Given the description of an element on the screen output the (x, y) to click on. 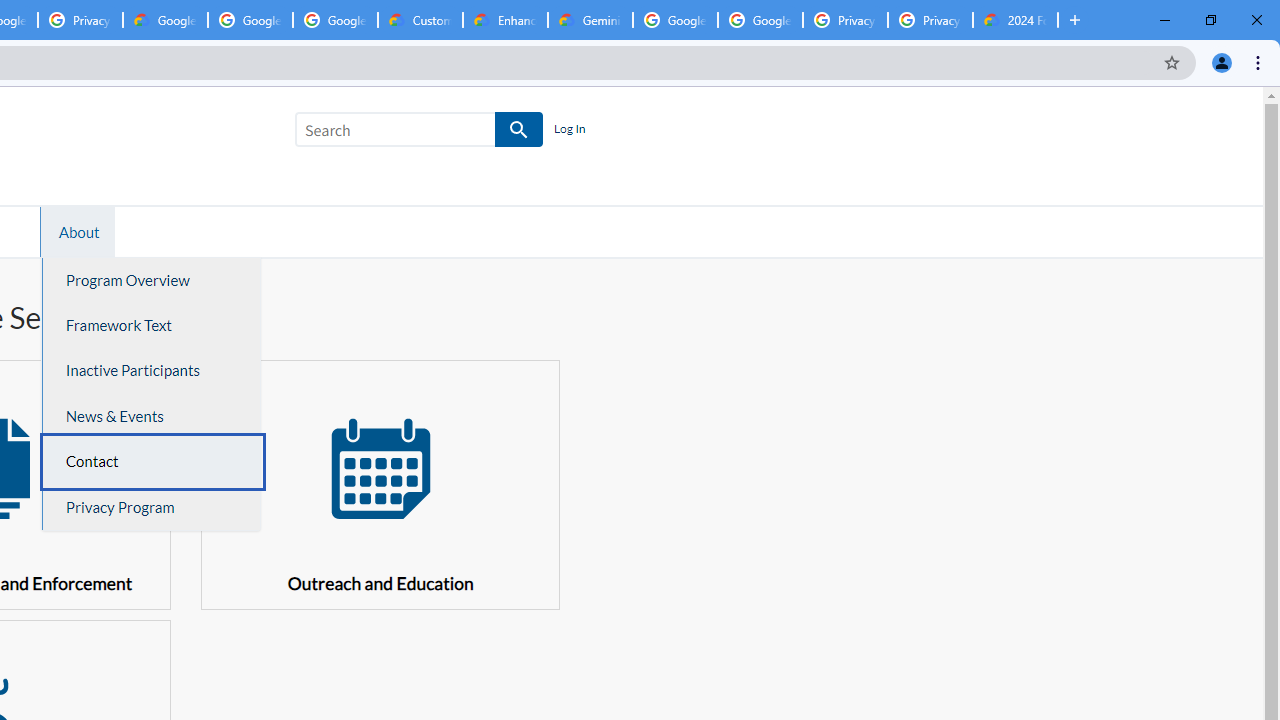
AutomationID: navitem2 (76, 231)
Privacy Program (151, 507)
 Outreach and Education (380, 484)
Program Overview (151, 280)
Google Workspace - Specific Terms (250, 20)
Search SEARCH (419, 133)
About (79, 231)
Gemini for Business and Developers | Google Cloud (590, 20)
